Given the description of an element on the screen output the (x, y) to click on. 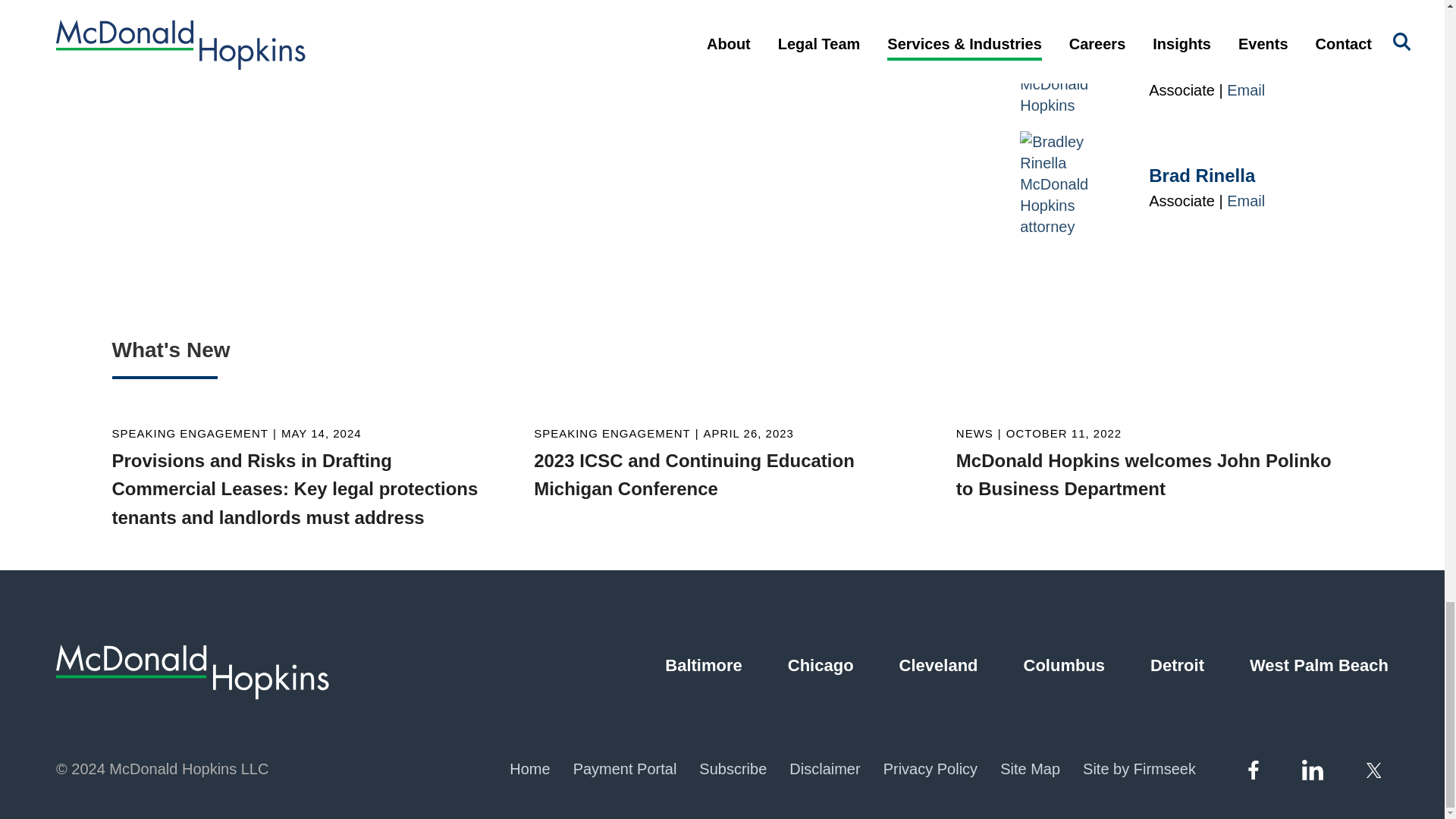
Linkedin (1312, 769)
Twitter (1375, 770)
Facebook (1253, 769)
